Given the description of an element on the screen output the (x, y) to click on. 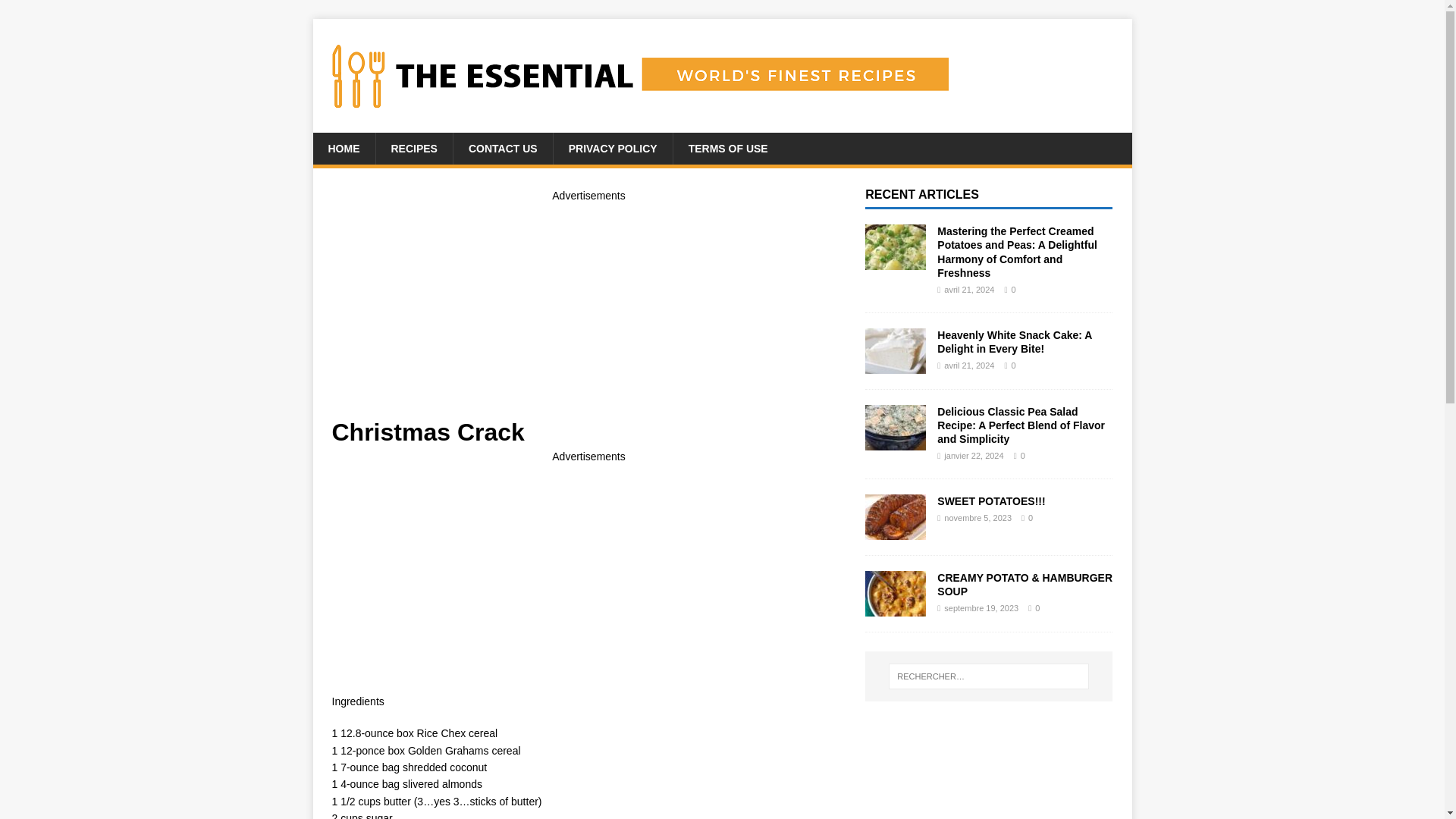
Heavenly White Snack Cake: A Delight in Every Bite! (895, 364)
SWEET POTATOES!!! (895, 530)
RECIPES (412, 148)
Heavenly White Snack Cake: A Delight in Every Bite! (1014, 341)
Advertisement (588, 572)
Heavenly White Snack Cake: A Delight in Every Bite! (1014, 341)
TERMS OF USE (727, 148)
